Given the description of an element on the screen output the (x, y) to click on. 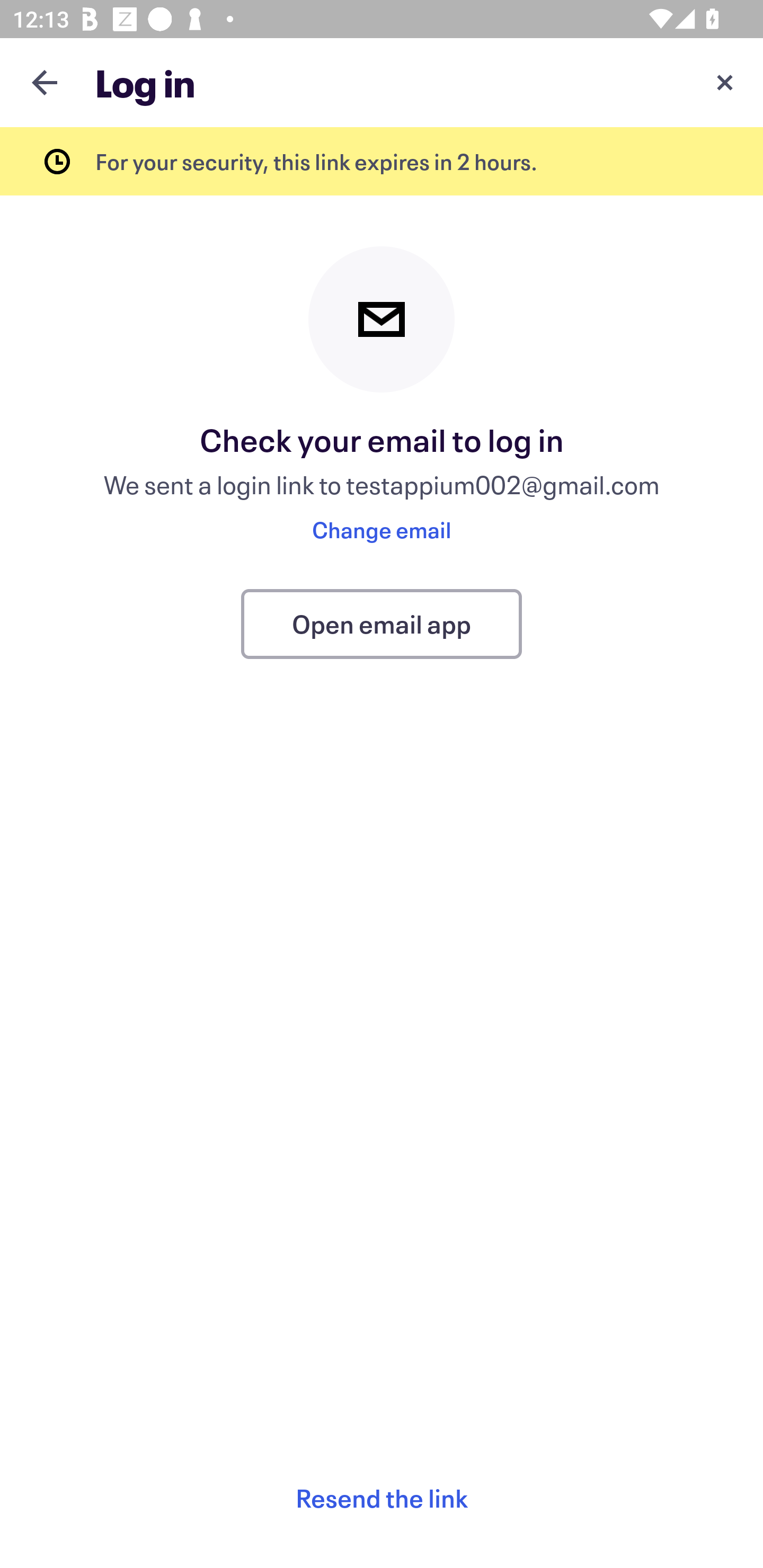
Navigate up (44, 82)
Cancel (724, 81)
Change email (381, 529)
Open email app (381, 623)
Resend the link (381, 1497)
